Given the description of an element on the screen output the (x, y) to click on. 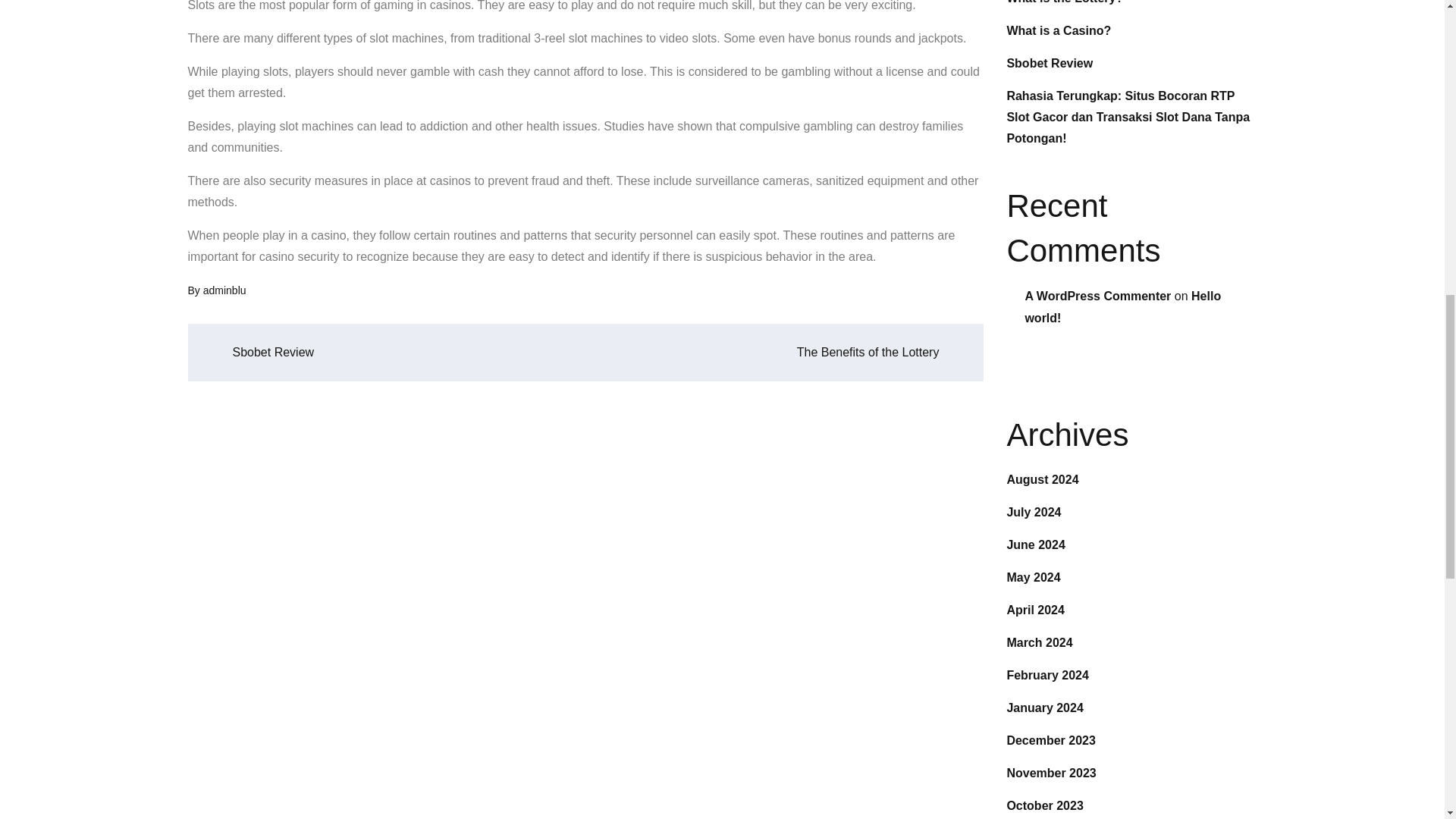
January 2024 (1044, 707)
February 2024 (1047, 675)
What is the Lottery? (1064, 2)
Hello world! (1123, 306)
December 2023 (1050, 739)
June 2024 (1035, 544)
May 2024 (1032, 576)
What is a Casino? (1058, 30)
November 2023 (1051, 772)
